Given the description of an element on the screen output the (x, y) to click on. 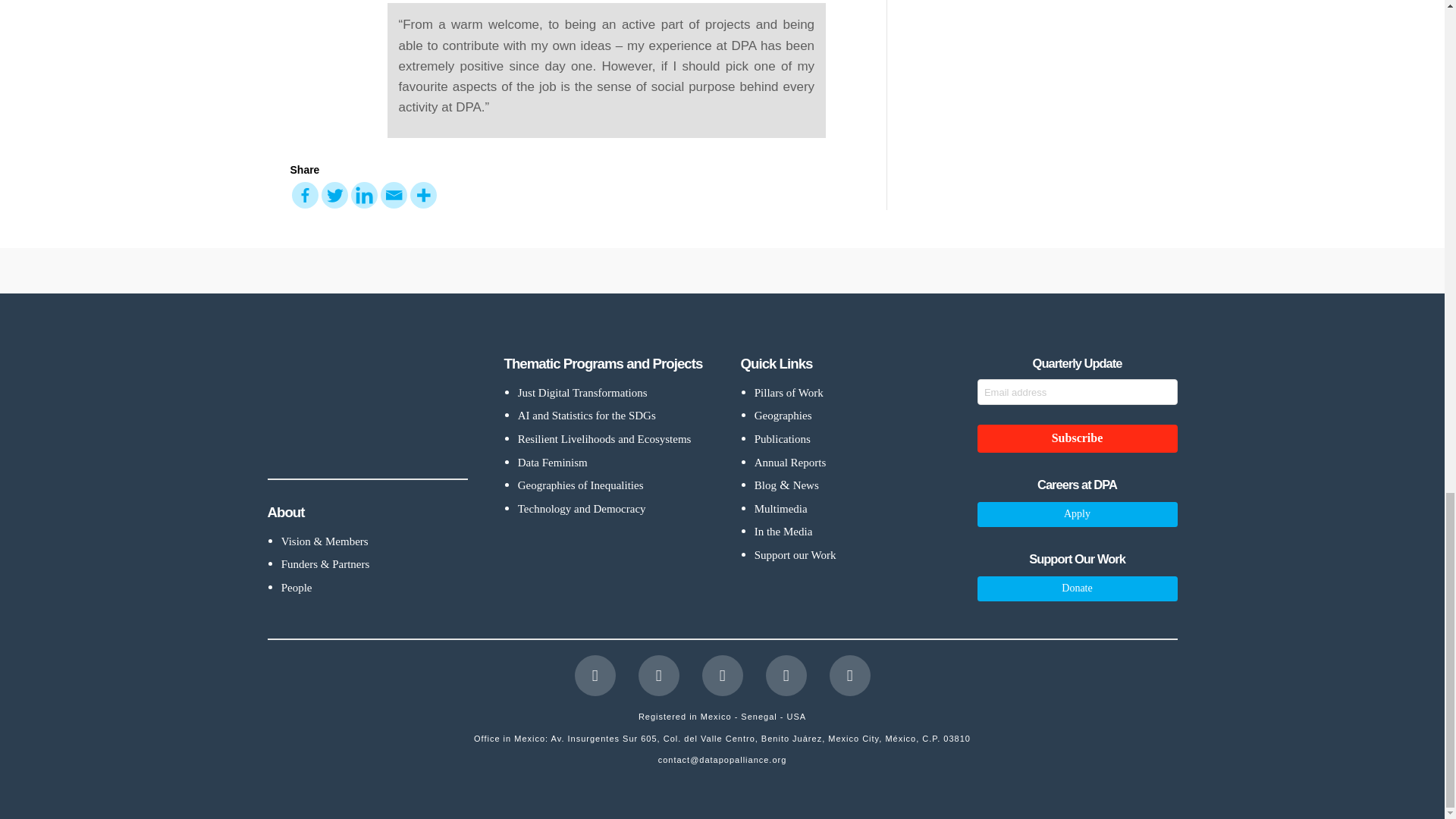
Email (393, 194)
Twitter (659, 675)
Facebook (304, 194)
YouTube (785, 675)
Instagram (849, 675)
Linkedin (363, 194)
Subscribe (1076, 438)
LinkedIn (721, 675)
Twitter (334, 194)
More (422, 194)
Facebook (595, 675)
